Given the description of an element on the screen output the (x, y) to click on. 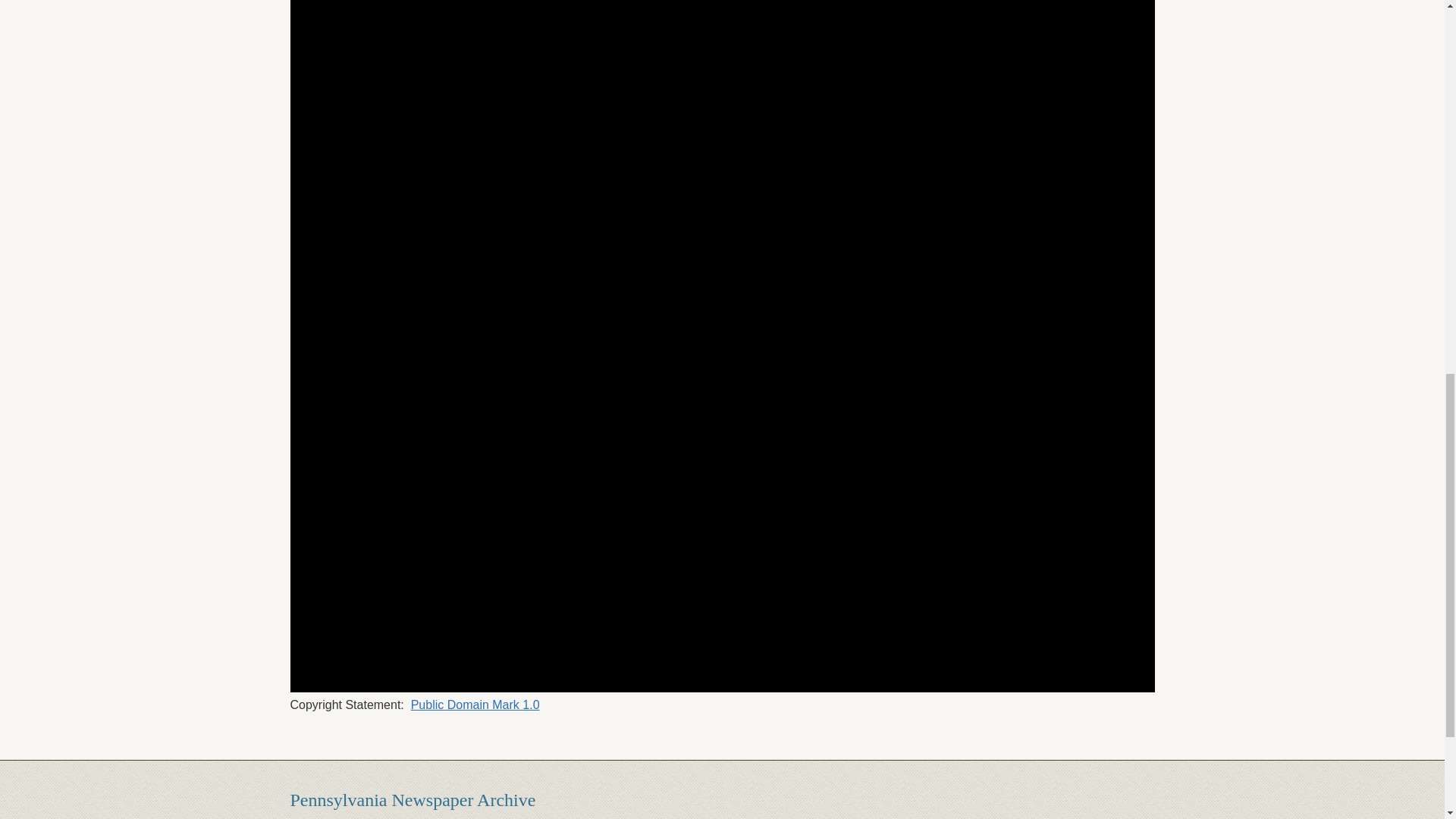
Public Domain Mark 1.0 (475, 704)
